Given the description of an element on the screen output the (x, y) to click on. 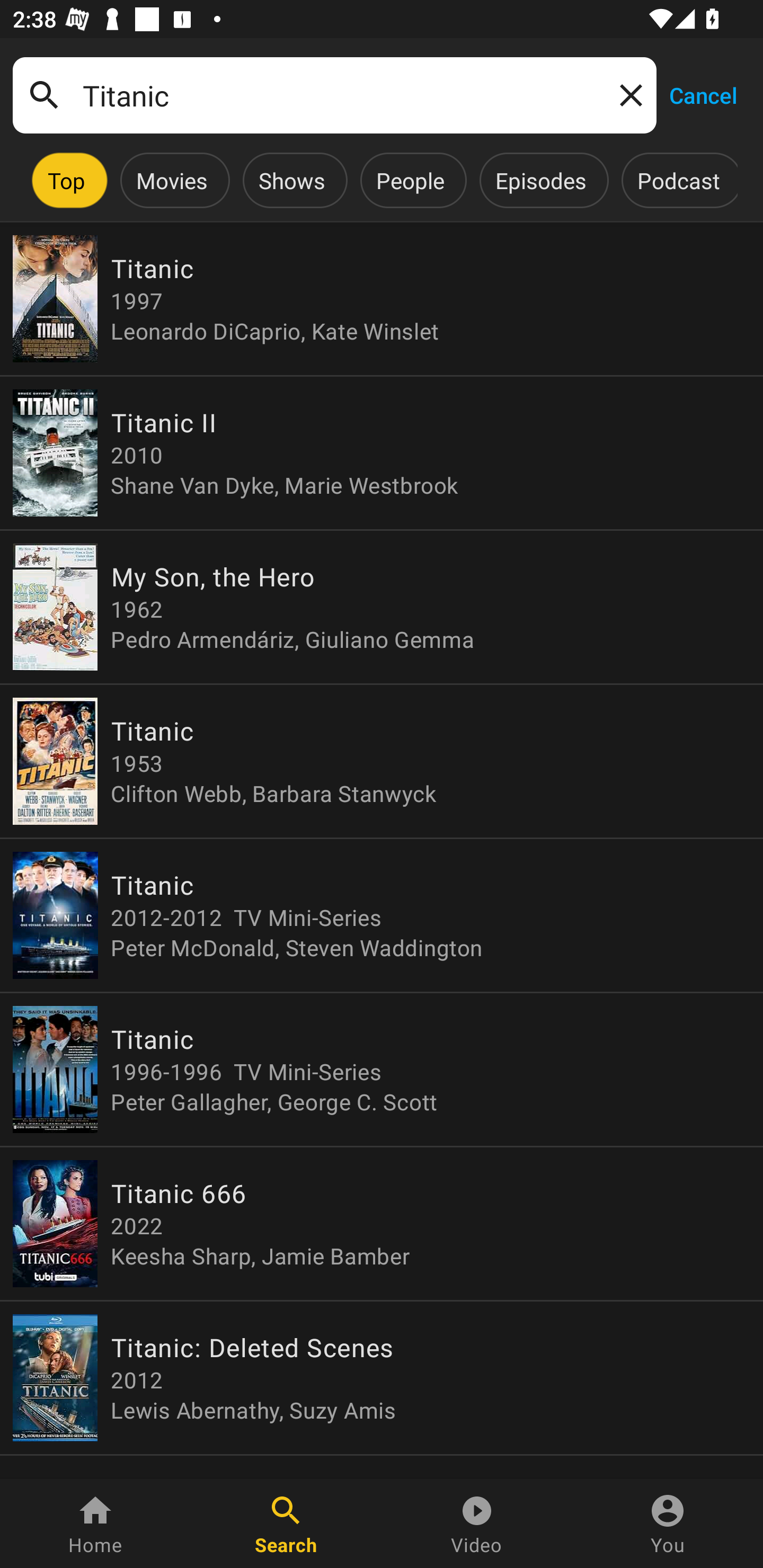
Clear query (627, 94)
Cancel (703, 94)
Titanic (334, 95)
Top (66, 180)
Movies (171, 180)
Shows (291, 180)
People (410, 180)
Episodes (540, 180)
Podcast (678, 180)
Titanic 1997 Leonardo DiCaprio, Kate Winslet (381, 298)
Titanic II 2010 Shane Van Dyke, Marie Westbrook (381, 452)
Titanic 1953 Clifton Webb, Barbara Stanwyck (381, 761)
Titanic 666 2022 Keesha Sharp, Jamie Bamber (381, 1223)
Home (95, 1523)
Video (476, 1523)
You (667, 1523)
